Given the description of an element on the screen output the (x, y) to click on. 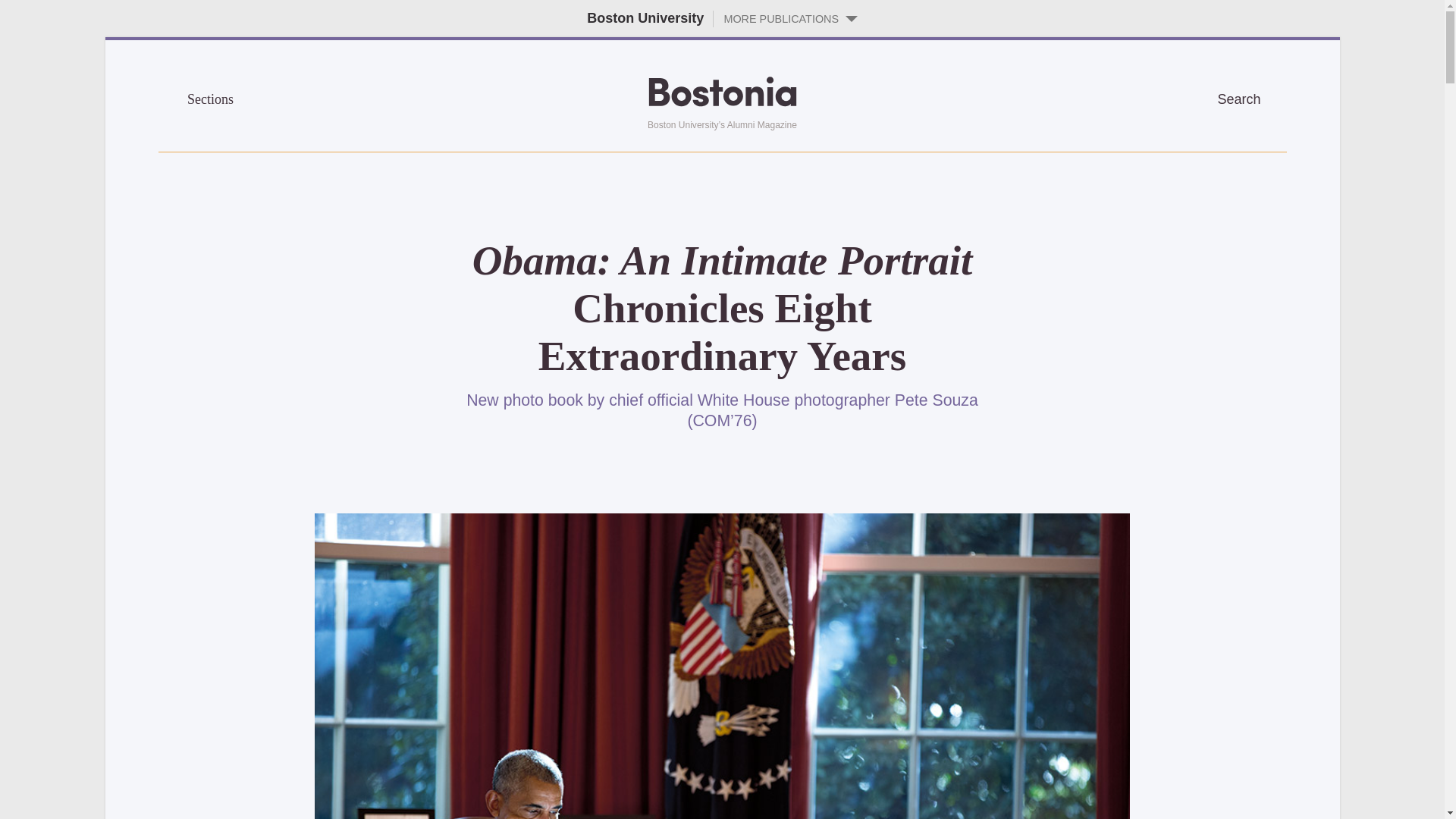
Boston University (644, 18)
Sections (298, 96)
MORE PUBLICATIONS (785, 18)
Search (1251, 96)
